Given the description of an element on the screen output the (x, y) to click on. 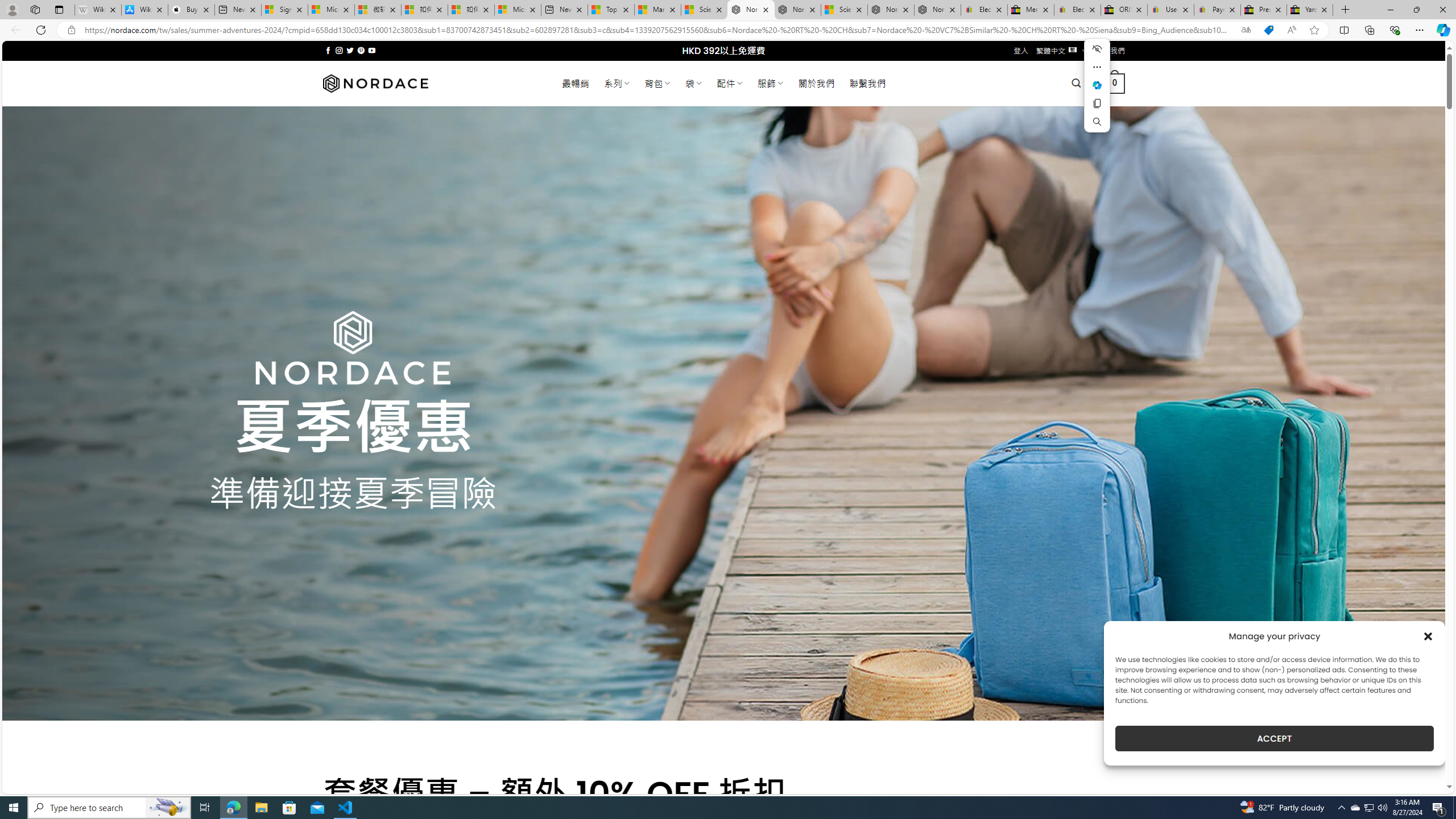
Marine life - MSN (656, 9)
Press Room - eBay Inc. (1263, 9)
Sign in to your Microsoft account (284, 9)
Mini menu on text selection (1096, 84)
Nordace - Summer Adventures 2024 (890, 9)
Follow on YouTube (371, 50)
ACCEPT (1274, 738)
Top Stories - MSN (610, 9)
